Given the description of an element on the screen output the (x, y) to click on. 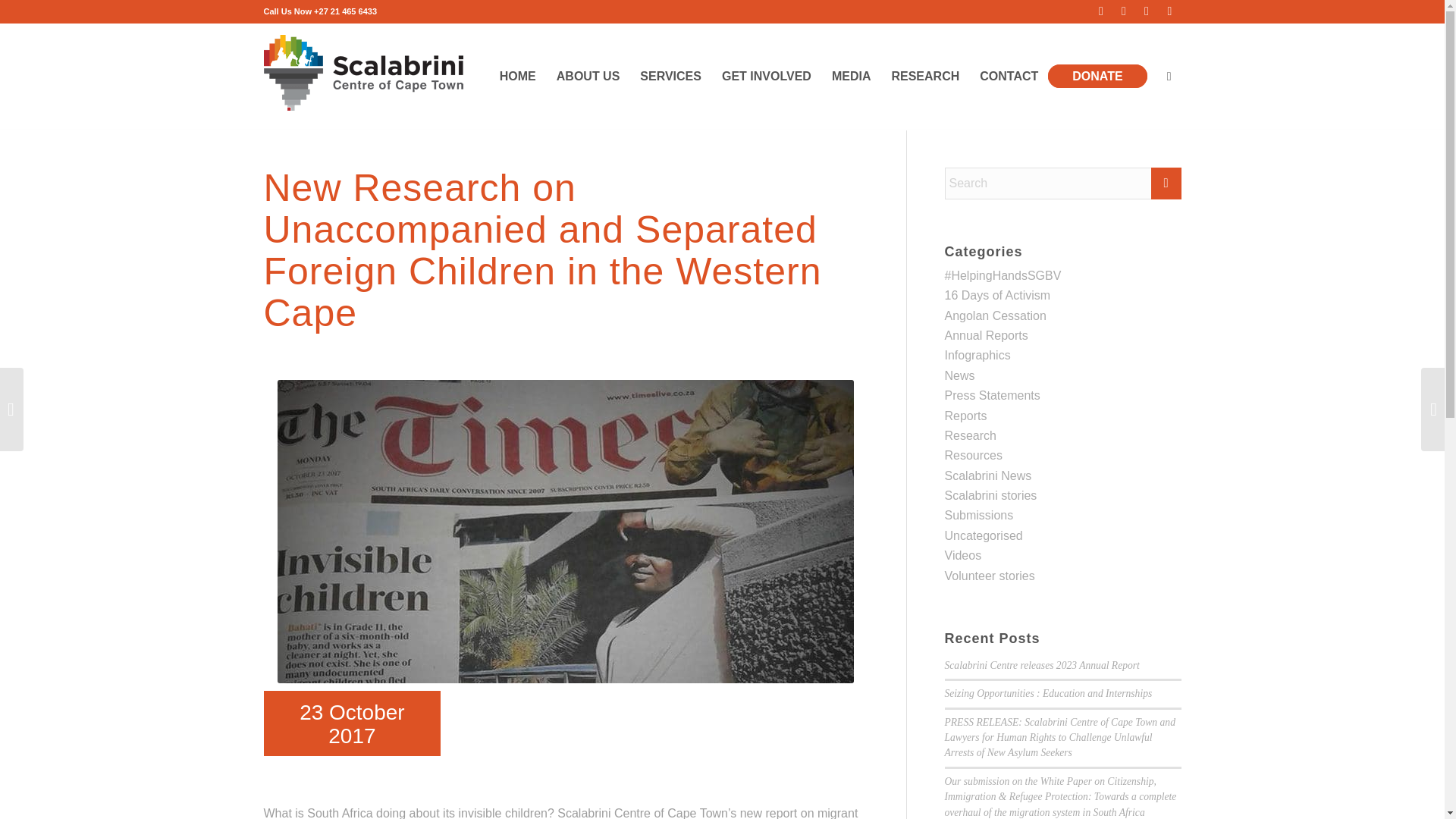
16 Days of Activism (997, 295)
DONATE (1102, 76)
X (1124, 11)
Click to start search (1165, 183)
Facebook (1101, 11)
Instagram (1169, 11)
LinkedIn (1146, 11)
GET INVOLVED (766, 76)
